Given the description of an element on the screen output the (x, y) to click on. 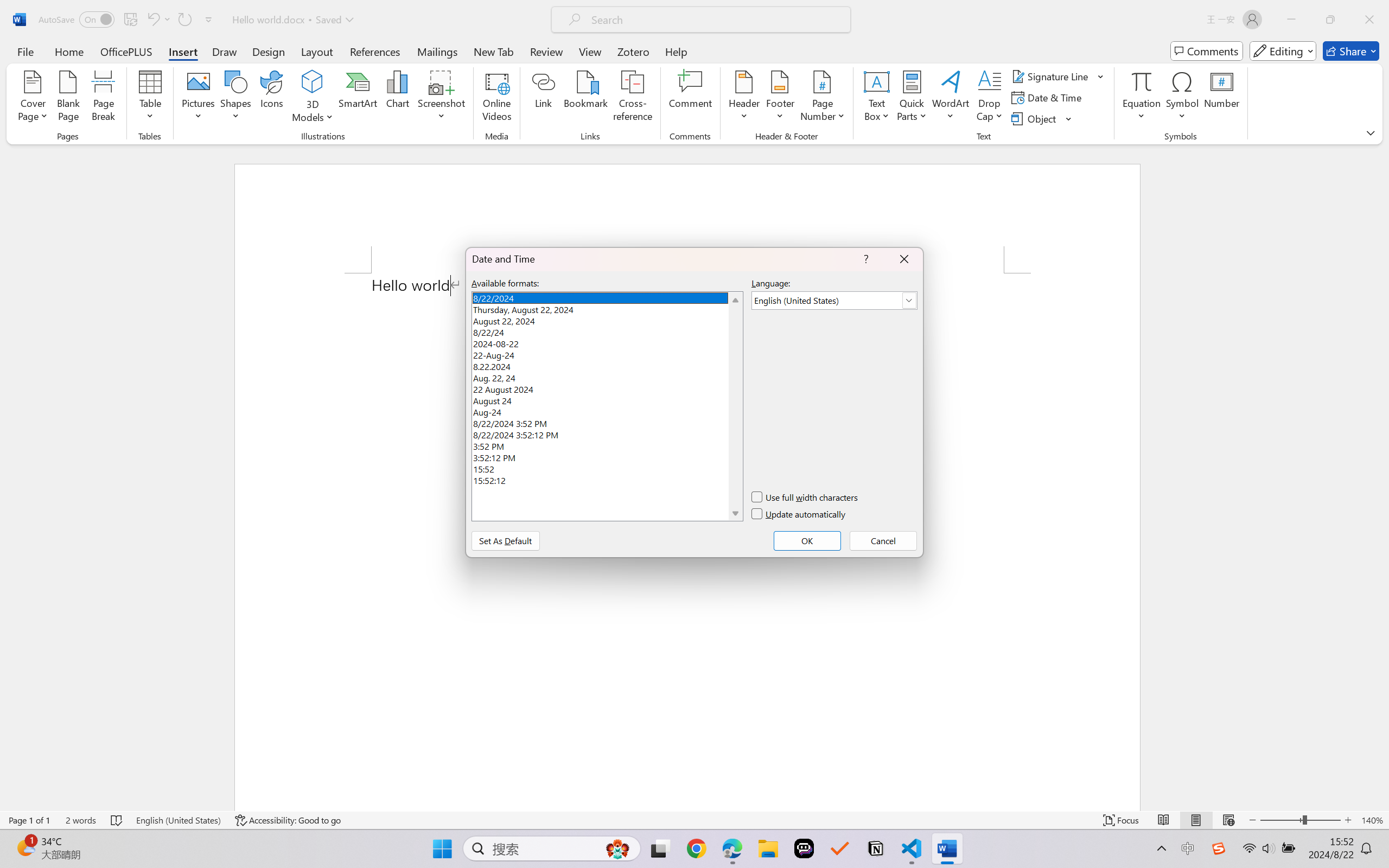
Zoom 100% (1364, 837)
